Given the description of an element on the screen output the (x, y) to click on. 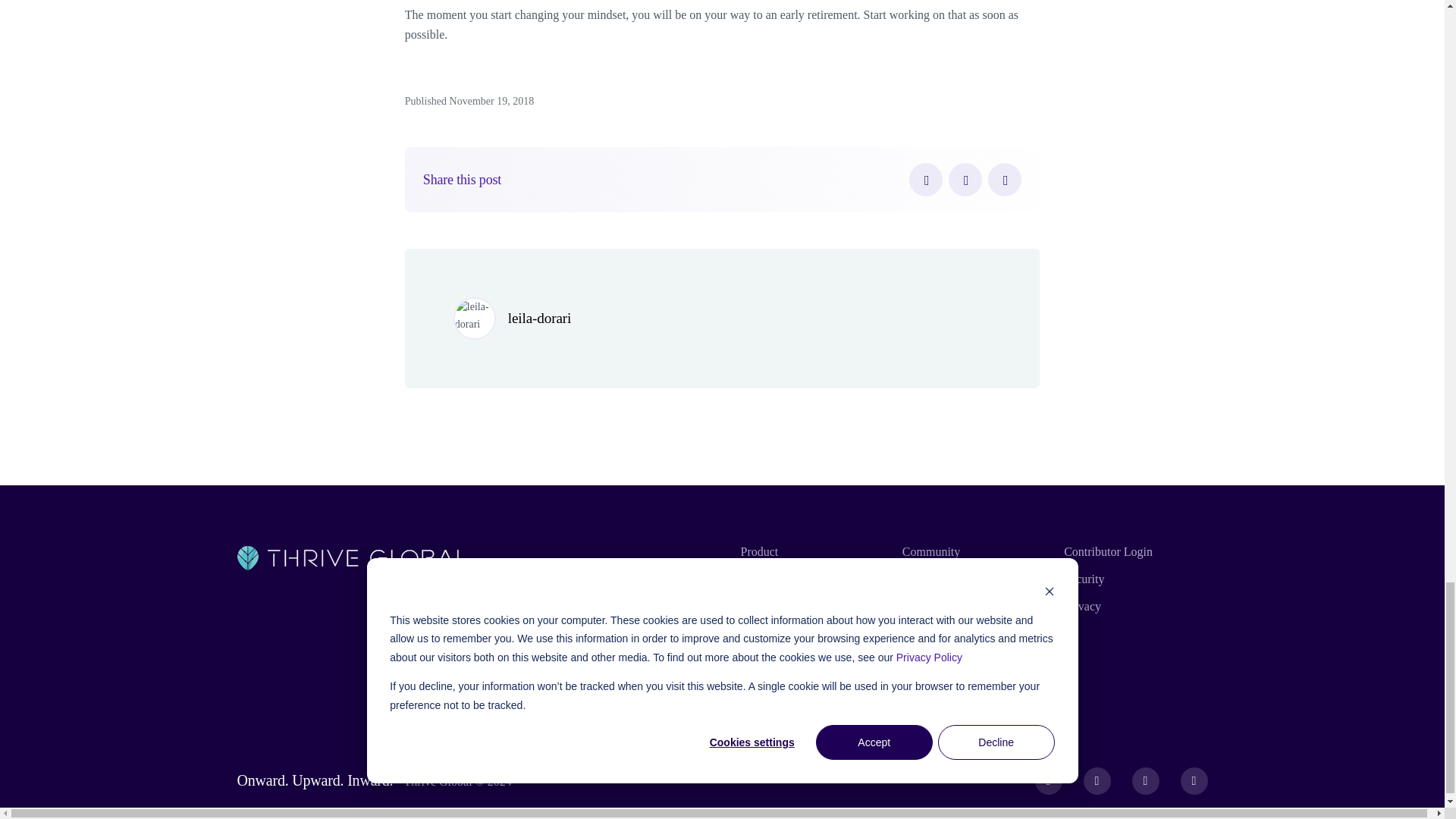
Twitter (965, 179)
LinkedIn (1005, 179)
Facebook (925, 179)
leila-dorari (539, 317)
